Given the description of an element on the screen output the (x, y) to click on. 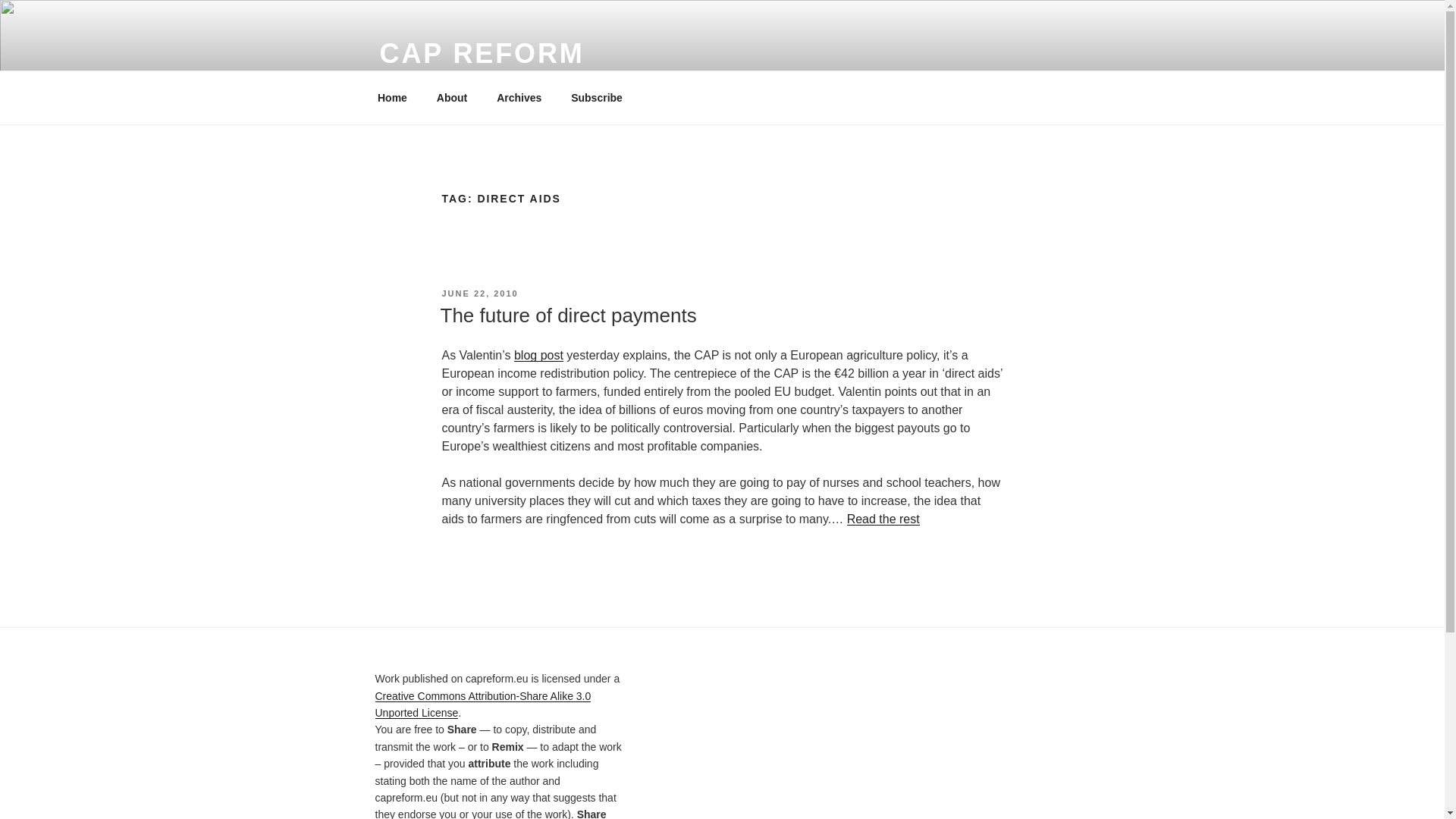
About (451, 97)
The future of direct payments (567, 314)
Archives (518, 97)
CAP REFORM (480, 52)
Home (392, 97)
Subscribe (596, 97)
blog post (538, 354)
Read the rest (883, 518)
JUNE 22, 2010 (479, 293)
